Given the description of an element on the screen output the (x, y) to click on. 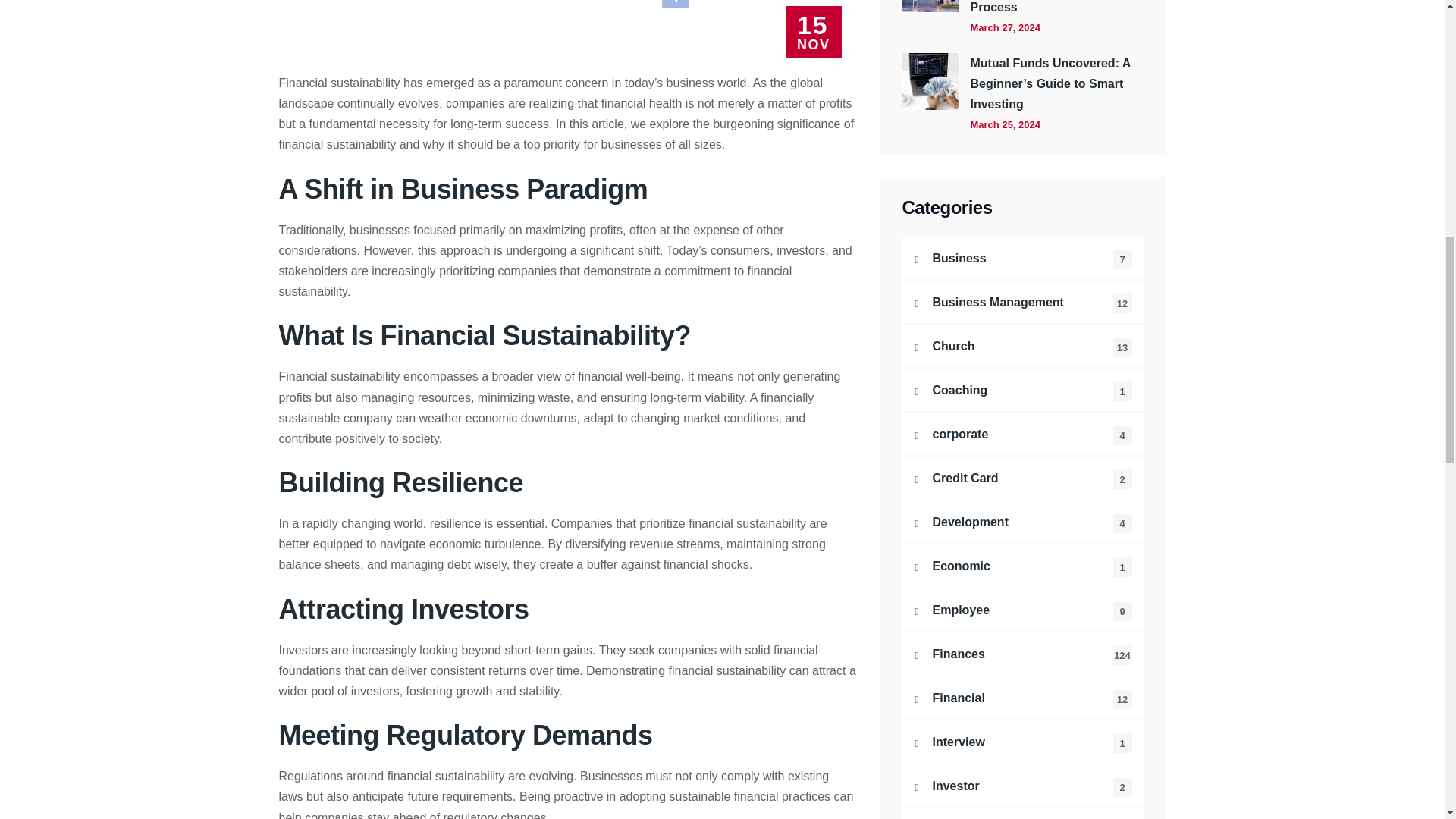
Business Management (1022, 301)
Coaching (1022, 389)
First Home Buyers: Steps to Ensure a Smooth Mortgage Process (1056, 8)
Credit Card (1022, 477)
March 25, 2024 (1006, 124)
Church (1022, 345)
Development (1022, 521)
Business (1022, 257)
corporate (1022, 433)
Economic (1022, 565)
March 27, 2024 (1006, 27)
